Given the description of an element on the screen output the (x, y) to click on. 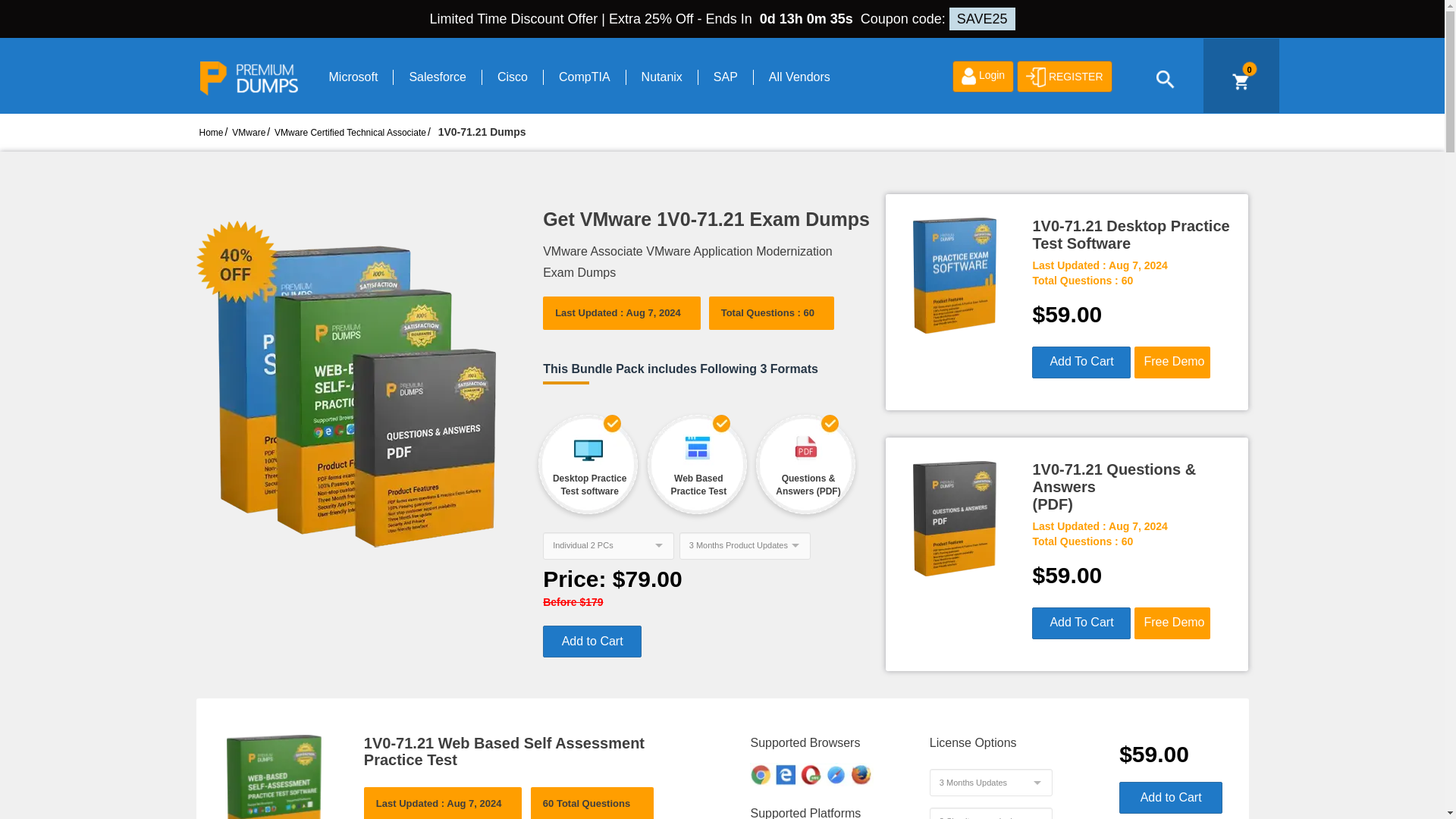
CompTIA (584, 77)
Add To Cart (1081, 362)
Nutanix (661, 77)
0 (1240, 81)
Add to Cart (592, 641)
VMware (247, 132)
Login (982, 76)
Add To Cart (1081, 623)
VMware Certified Technical Associate (350, 132)
Free Demo (1171, 362)
